Given the description of an element on the screen output the (x, y) to click on. 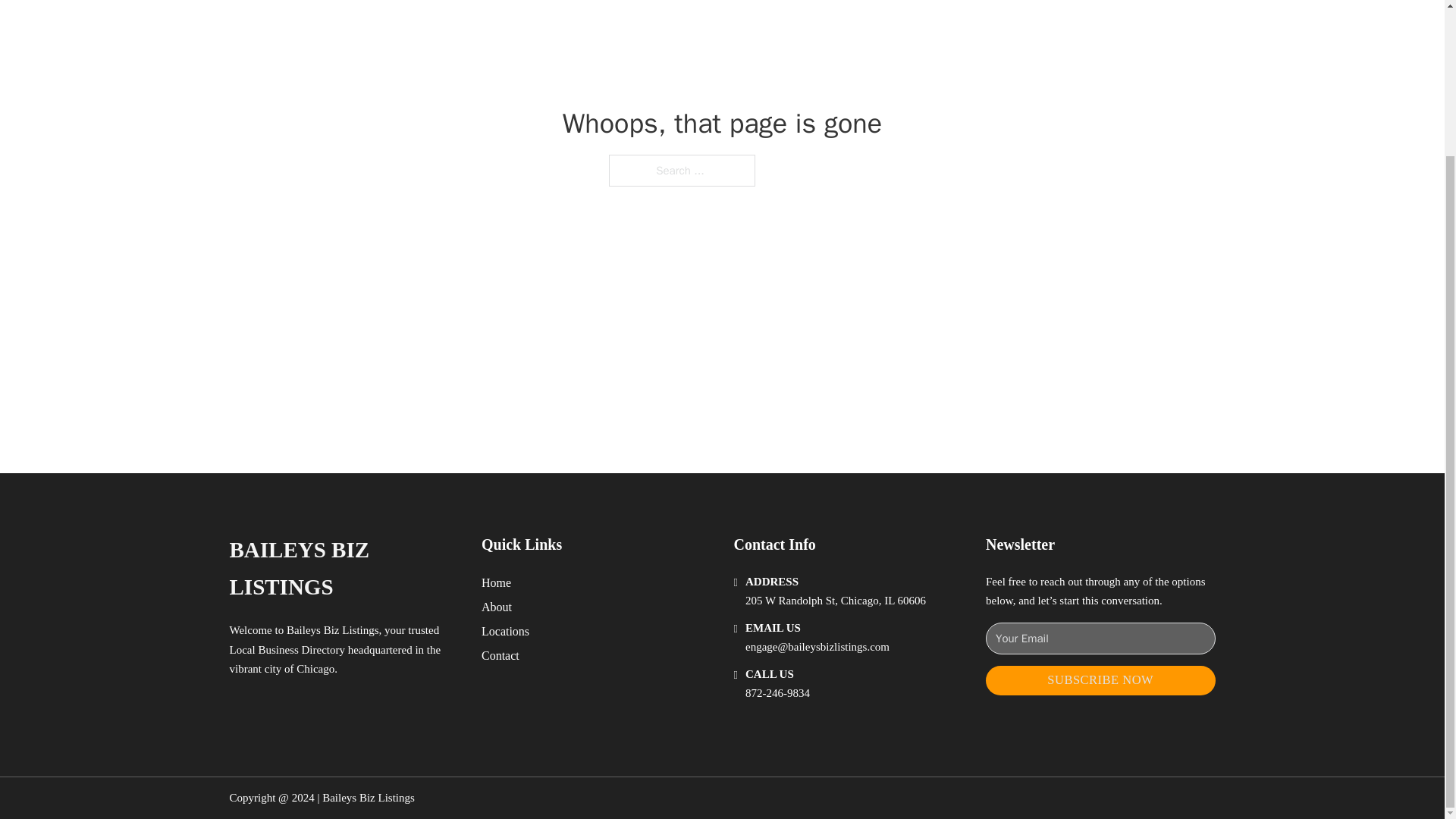
Locations (505, 630)
About (496, 607)
Contact (500, 655)
SUBSCRIBE NOW (1100, 680)
Home (496, 582)
872-246-9834 (777, 693)
BAILEYS BIZ LISTINGS (343, 568)
